Given the description of an element on the screen output the (x, y) to click on. 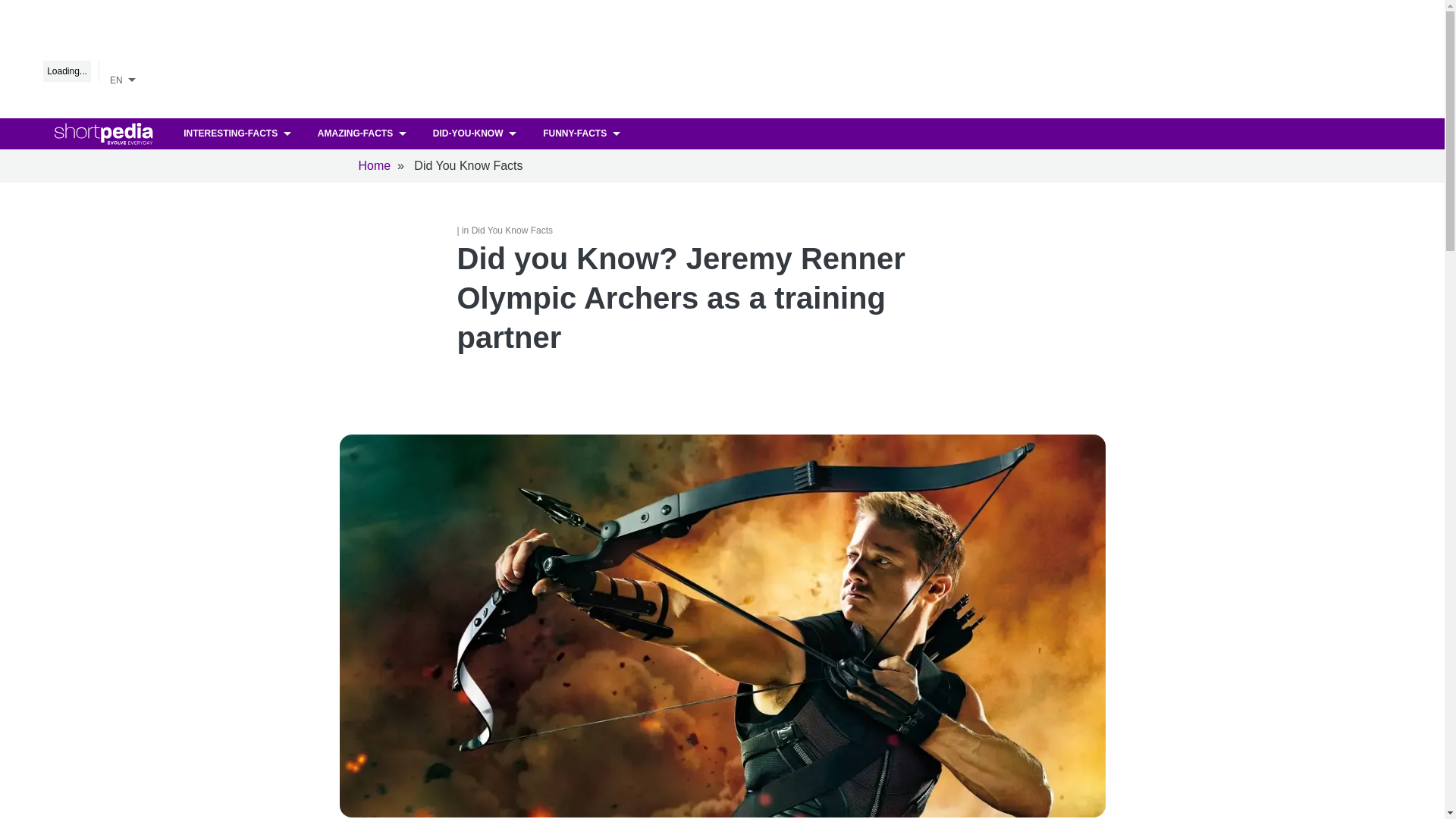
DID-YOU-KNOW (476, 133)
EN (125, 76)
FUNNY-FACTS (582, 133)
INTERESTING-FACTS (238, 133)
AMAZING-FACTS (363, 133)
